Given the description of an element on the screen output the (x, y) to click on. 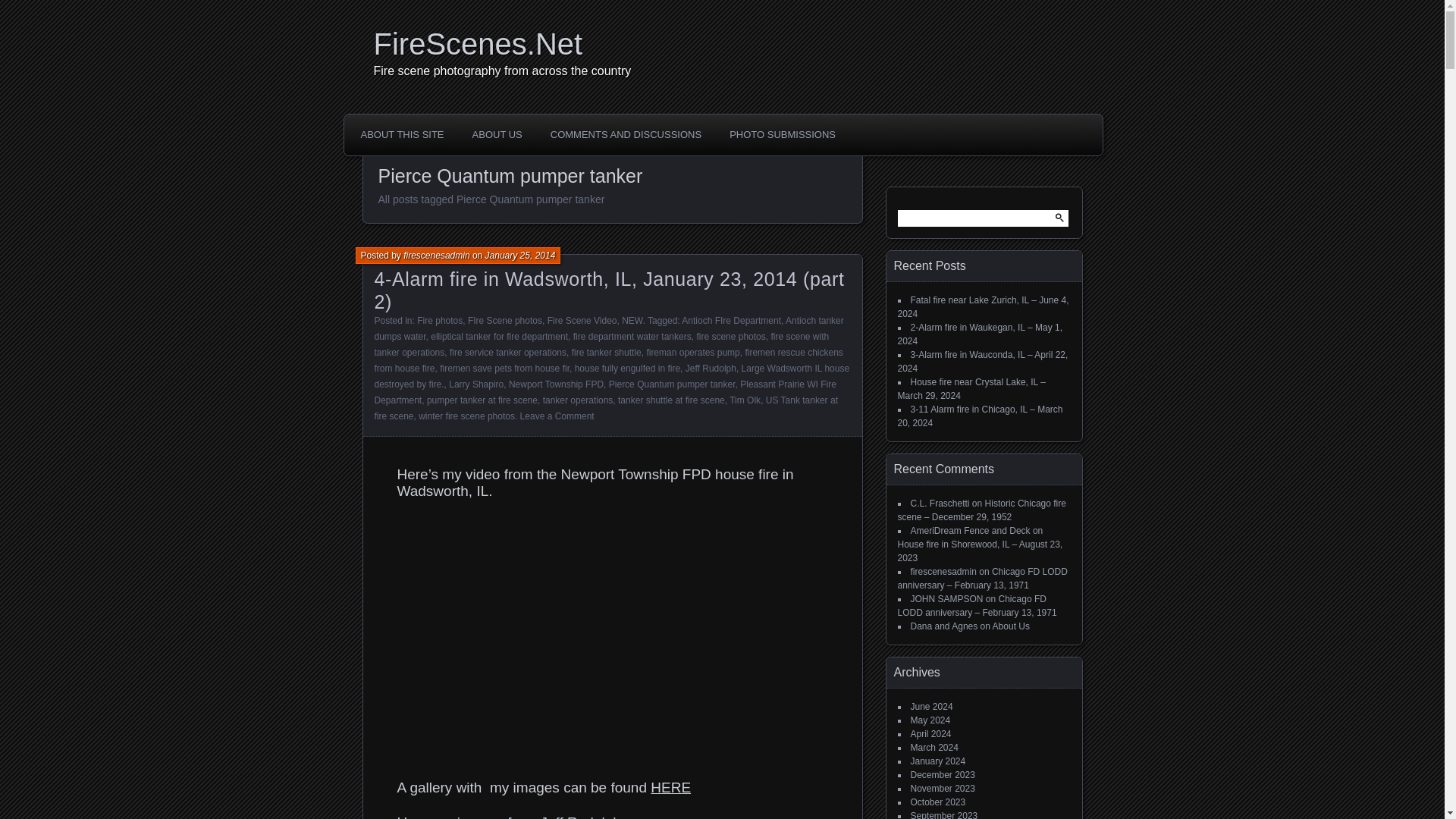
ABOUT THIS SITE (401, 134)
firescenesadmin (435, 255)
fireman operates pump (692, 352)
January 25, 2014 (520, 255)
FIre Scene photos (504, 320)
HERE (670, 787)
Antioch FIre Department (730, 320)
Pleasant Prairie WI Fire Department (604, 392)
winter fire scene photos (467, 416)
COMMENTS AND DISCUSSIONS (625, 134)
Jeff Rudolph (710, 368)
tanker shuttle at fire scene (671, 399)
tanker operations (577, 399)
fire scene with tanker operations (601, 344)
